Given the description of an element on the screen output the (x, y) to click on. 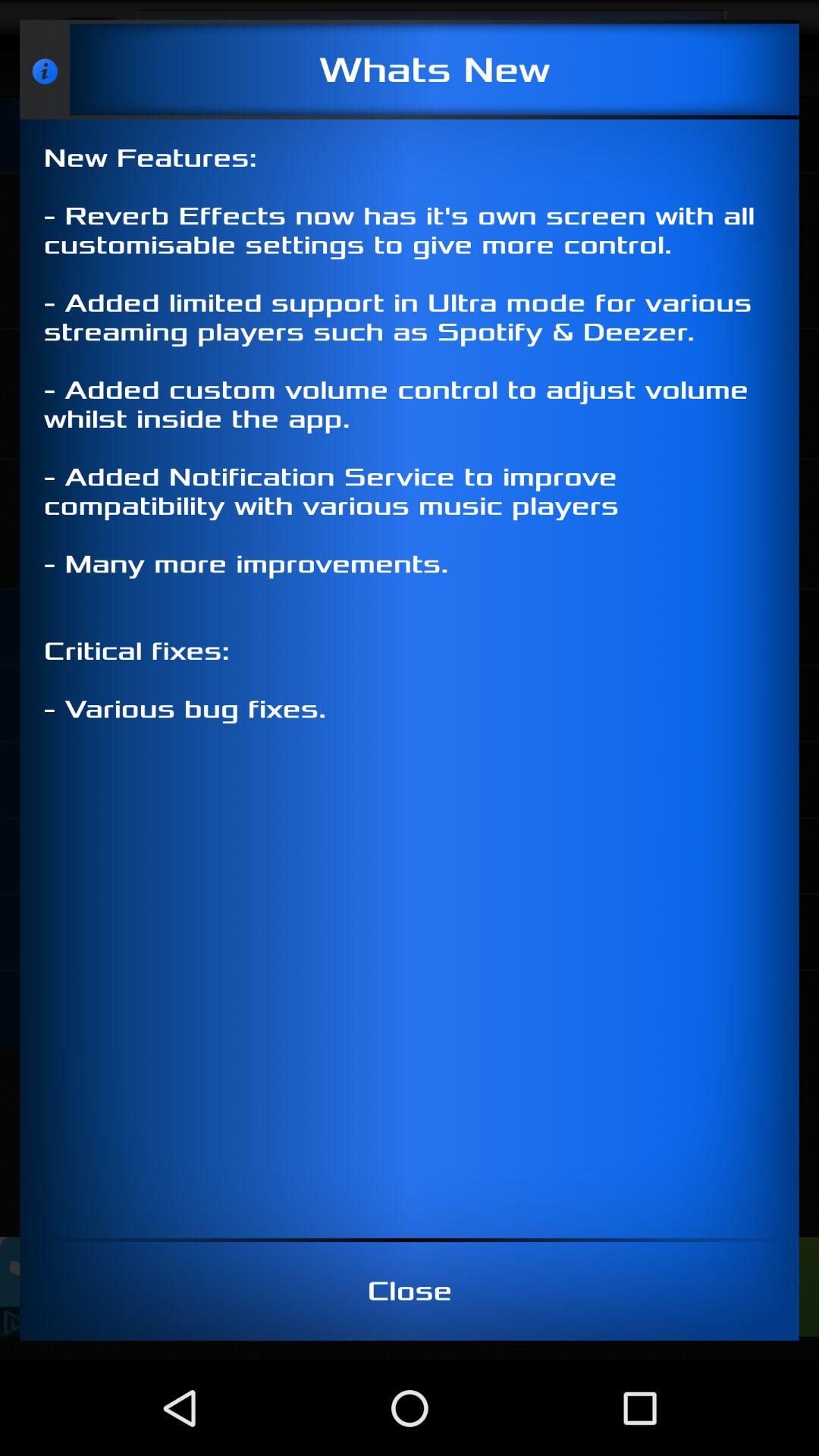
click icon at the center (409, 678)
